Given the description of an element on the screen output the (x, y) to click on. 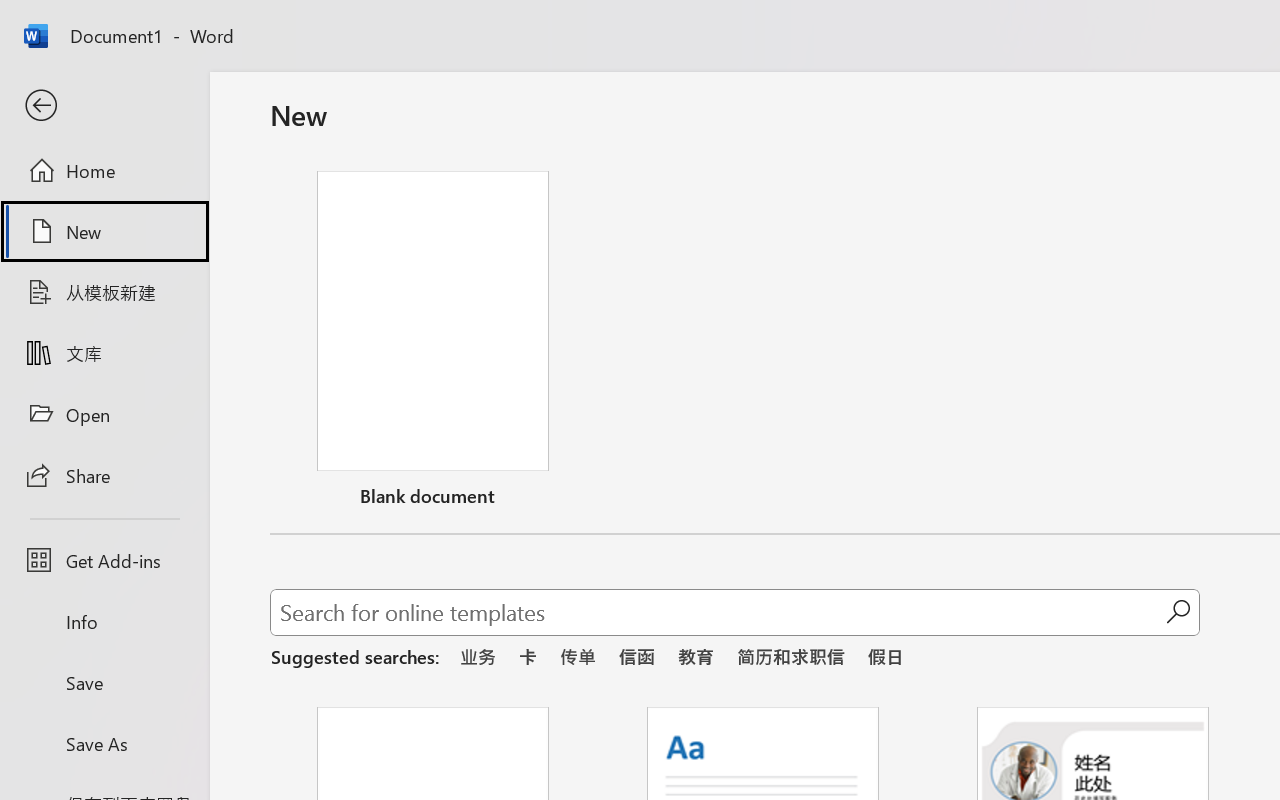
Save As (104, 743)
Back (104, 106)
